Given the description of an element on the screen output the (x, y) to click on. 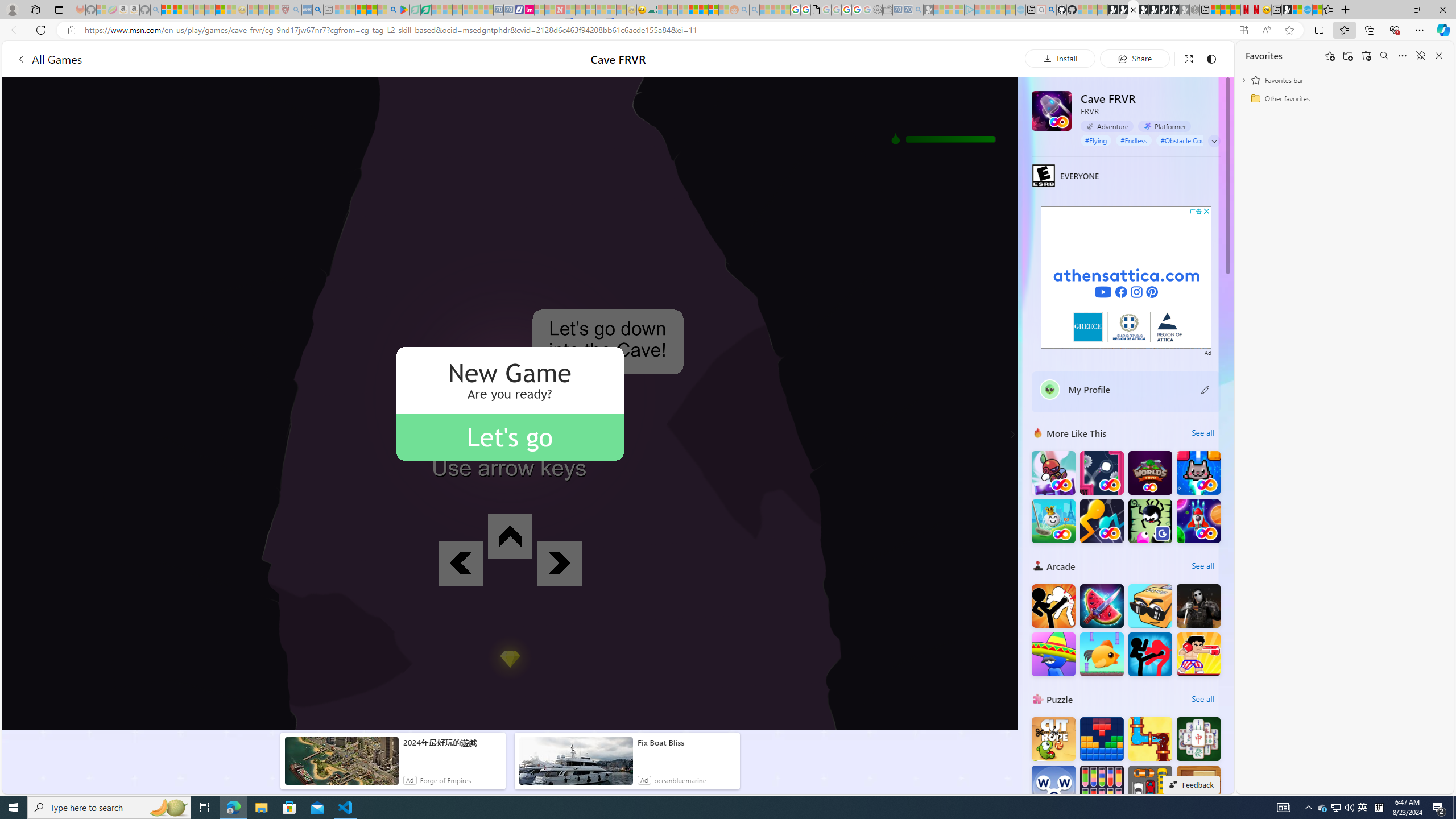
oceanbluemarine (679, 779)
Kinda Frugal - MSN (703, 9)
Boing FRVR (1053, 472)
AutomationID: gameCanvas (509, 403)
Class: button edit-icon (1205, 388)
EVERYONE (1043, 175)
Hunter Hitman (1198, 605)
Class: control (1214, 140)
Solitaire Mahjong Classic (1198, 738)
